Given the description of an element on the screen output the (x, y) to click on. 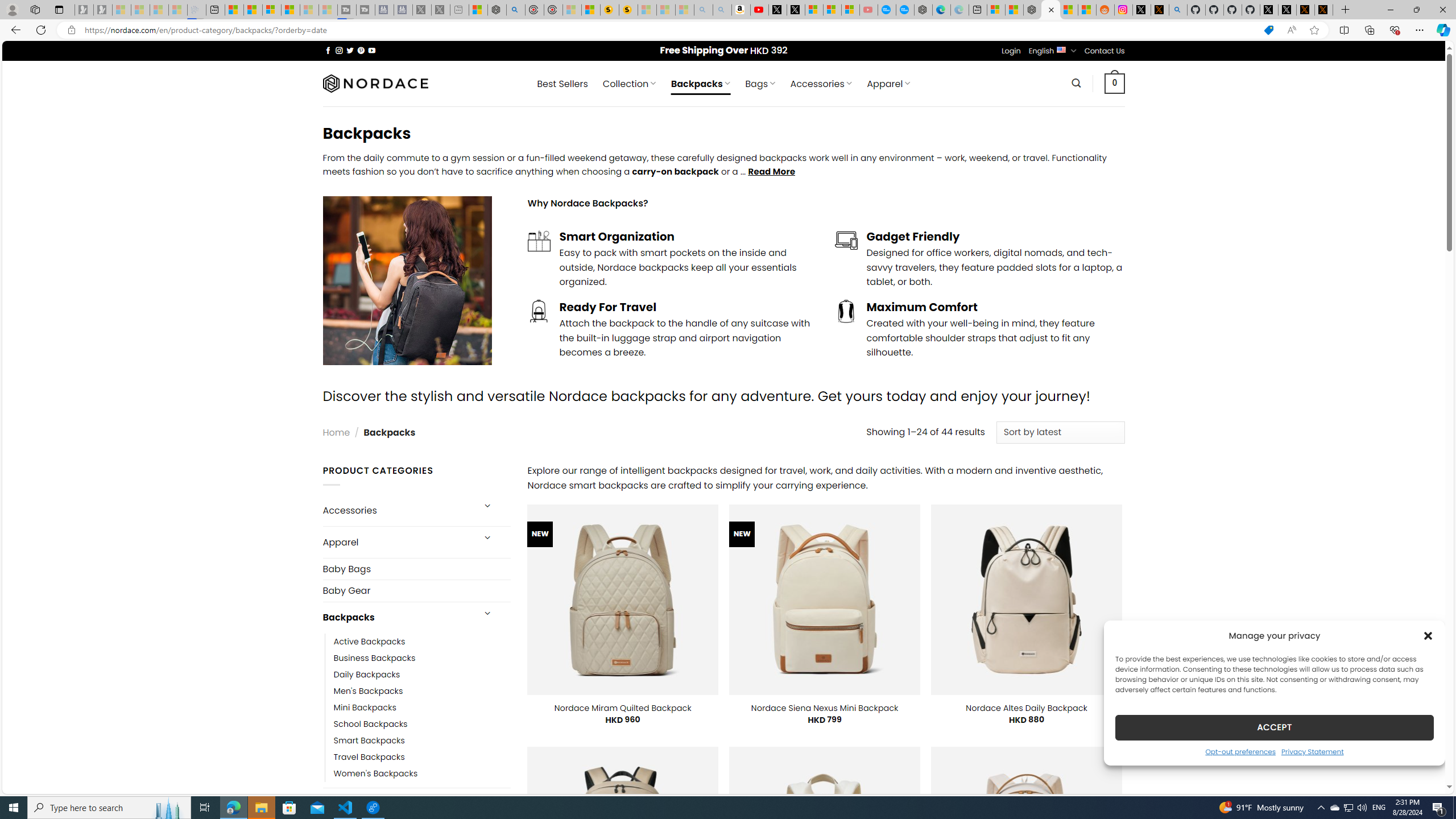
Travel Backpacks (422, 756)
GitHub (@github) / X (1287, 9)
Login (1010, 50)
github - Search (1178, 9)
Read More (771, 171)
